Given the description of an element on the screen output the (x, y) to click on. 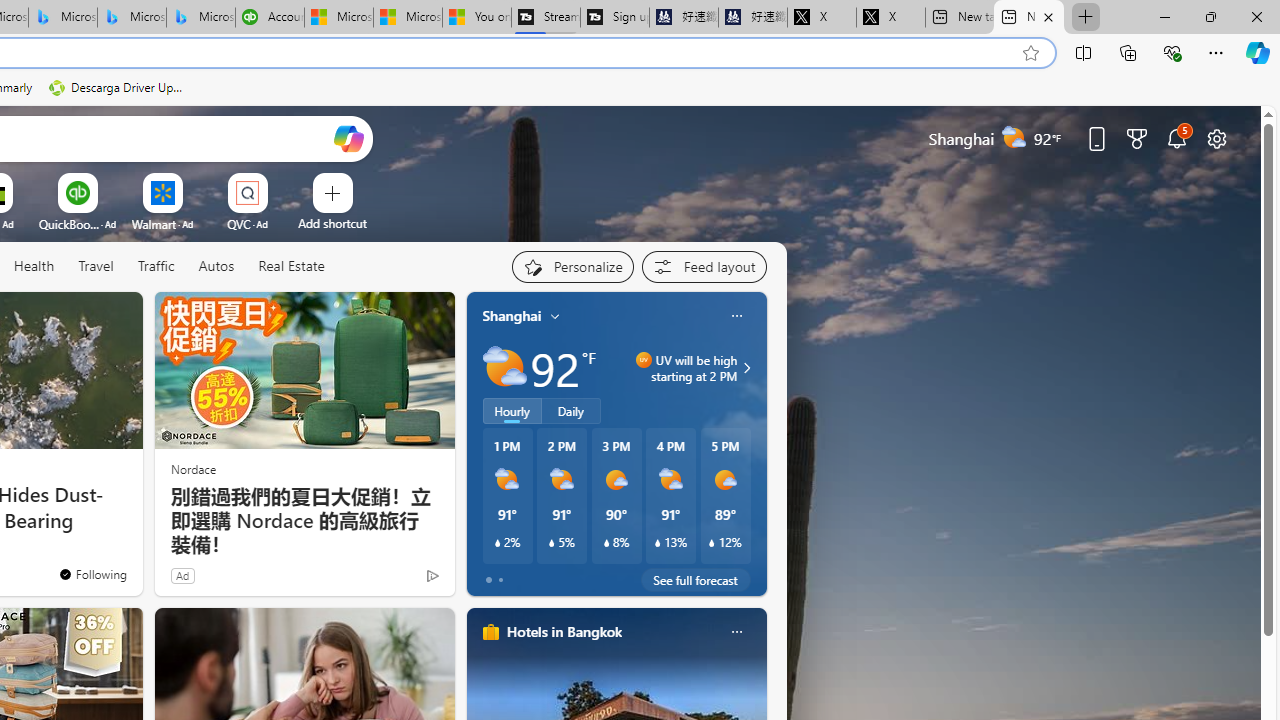
Page settings (1216, 138)
Class: weather-current-precipitation-glyph (712, 543)
Add a site (332, 223)
Hotels in Bangkok (563, 631)
UV will be high starting at 2 PM (744, 367)
Class: weather-arrow-glyph (746, 367)
